Given the description of an element on the screen output the (x, y) to click on. 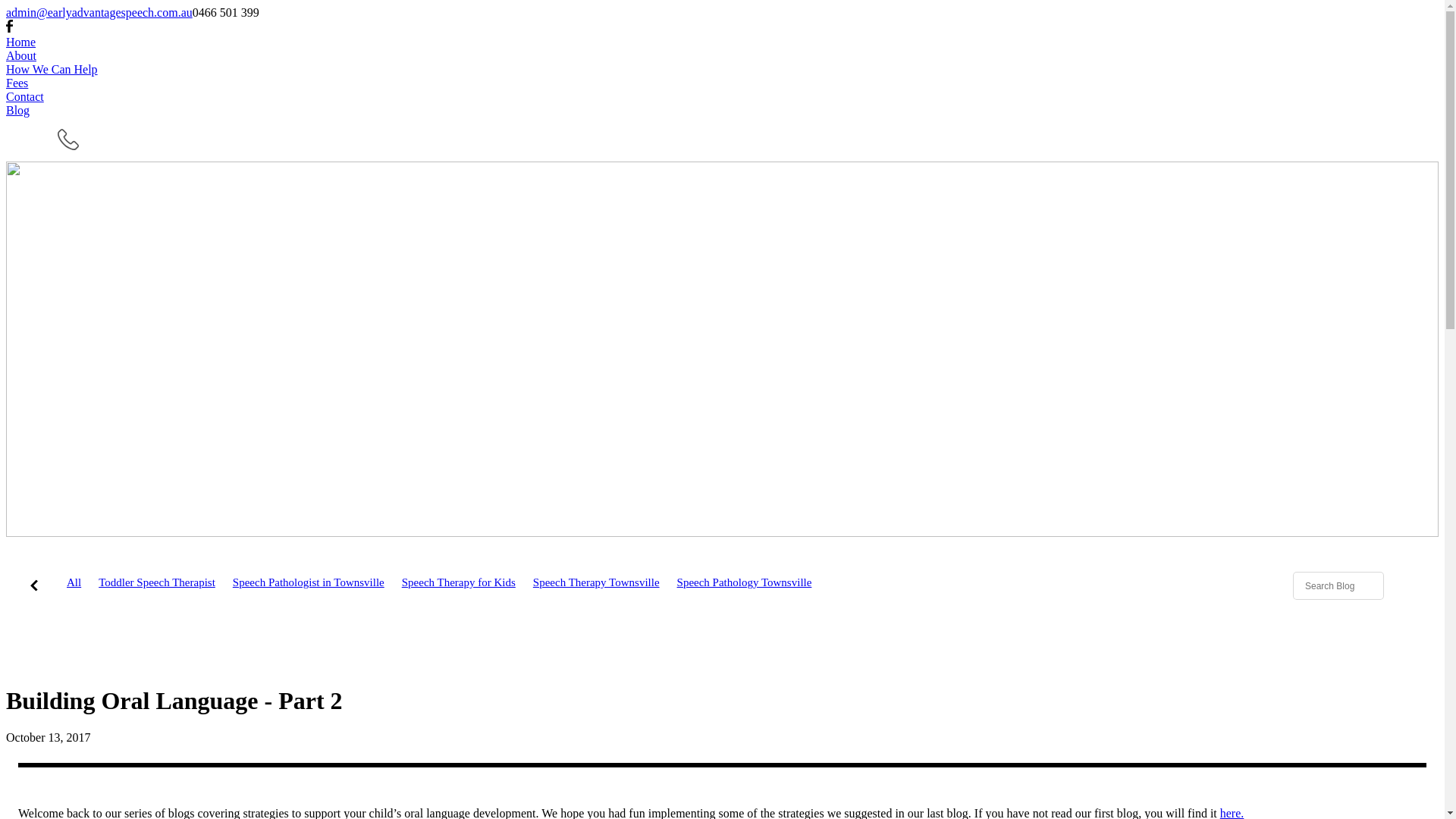
Speech Pathologist in Townsville Element type: text (308, 586)
Blog Element type: text (722, 110)
How We Can Help Element type: text (722, 69)
Home Element type: text (722, 42)
admin@earlyadvantagespeech.com.au Element type: text (99, 12)
Speech Therapy Townsville Element type: text (596, 586)
View all posts Element type: hover (33, 586)
Contact Element type: text (722, 96)
About Element type: text (722, 55)
Speech Therapy for Kids Element type: text (458, 586)
All Element type: text (73, 582)
Toddler Speech Therapist Element type: text (156, 586)
A link to this website's Facebook. Element type: hover (9, 27)
Fees Element type: text (722, 83)
Speech Pathology Townsville Element type: text (744, 586)
